Given the description of an element on the screen output the (x, y) to click on. 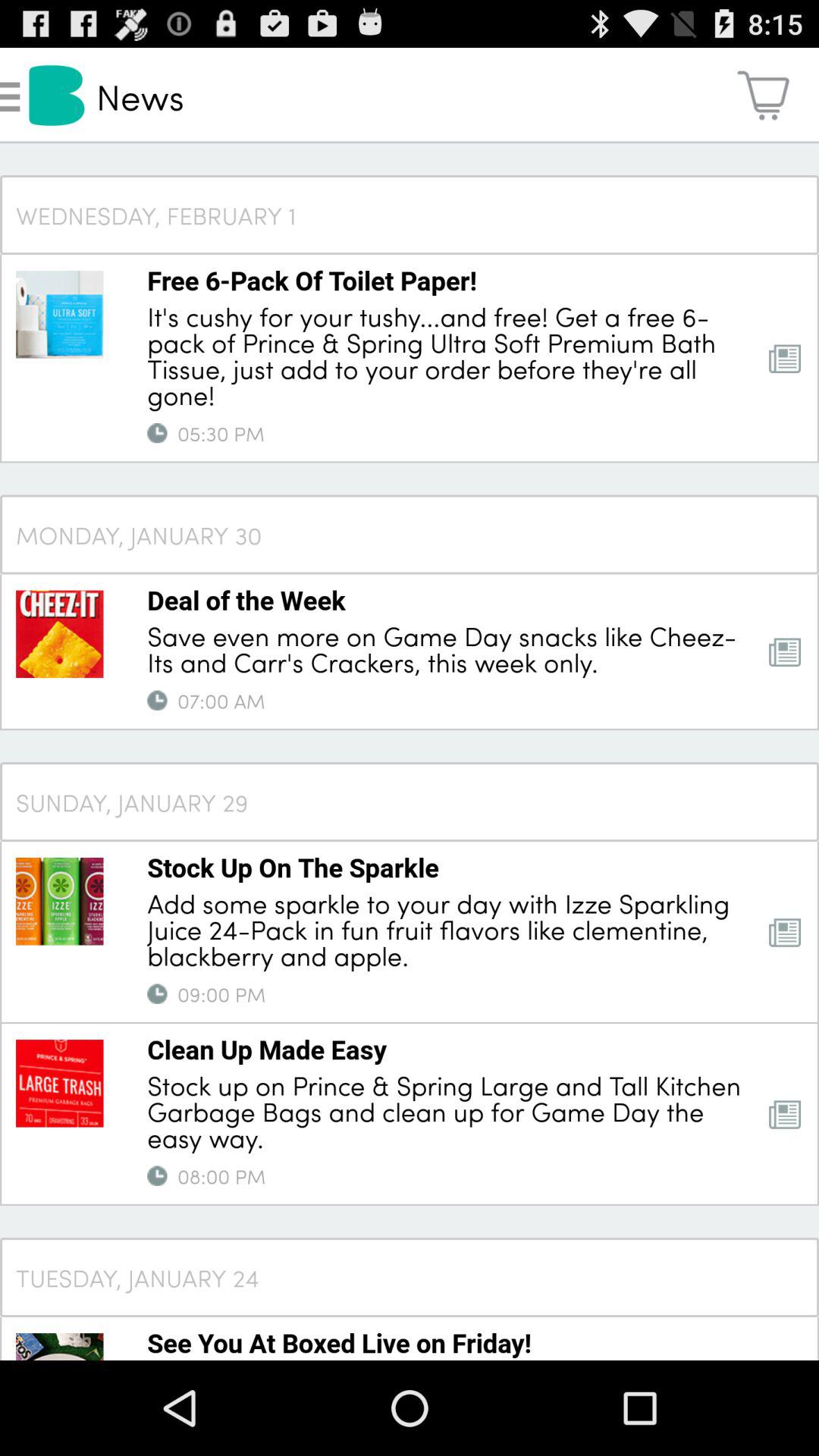
tap app to the right of the news icon (763, 95)
